Given the description of an element on the screen output the (x, y) to click on. 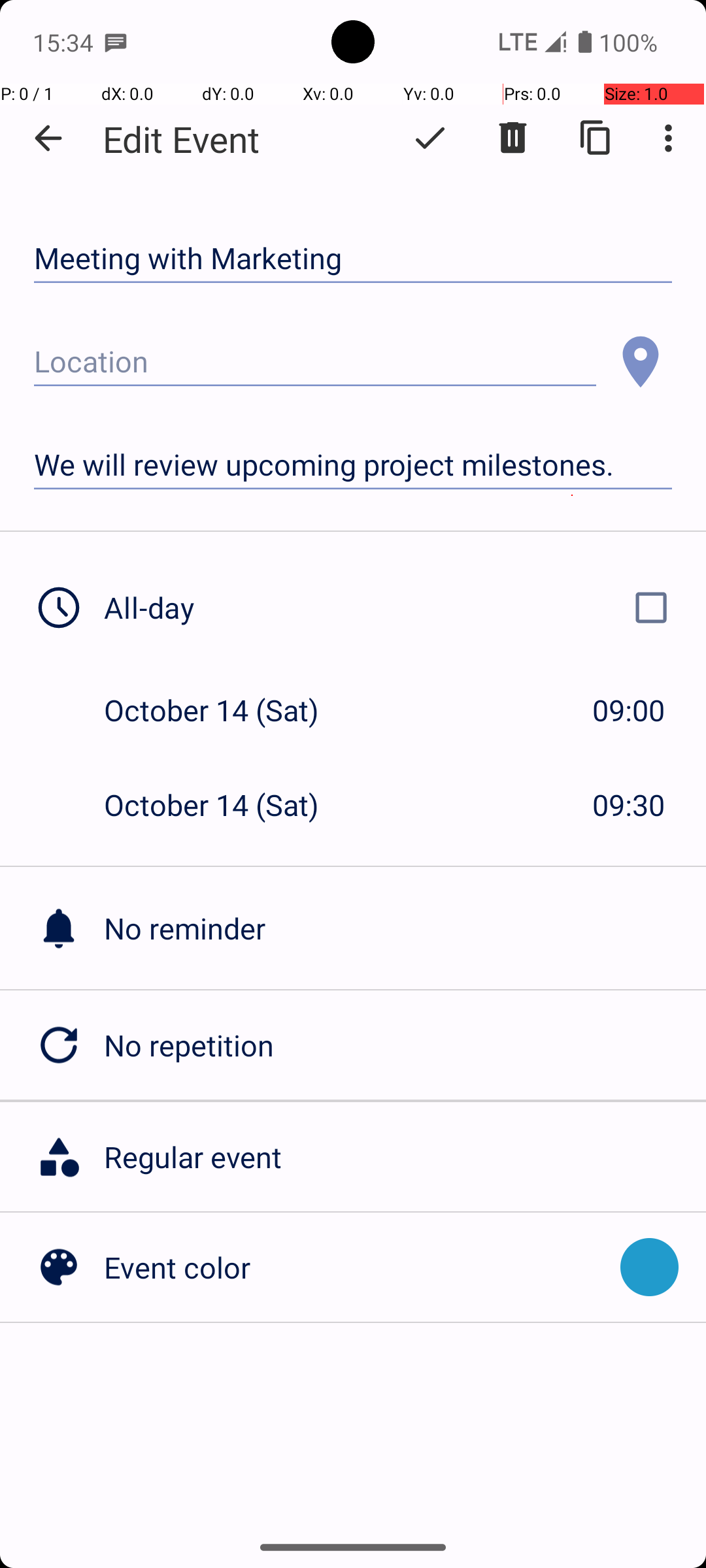
We will review upcoming project milestones. Element type: android.widget.EditText (352, 465)
October 14 (Sat) Element type: android.widget.TextView (224, 709)
09:30 Element type: android.widget.TextView (628, 804)
